Given the description of an element on the screen output the (x, y) to click on. 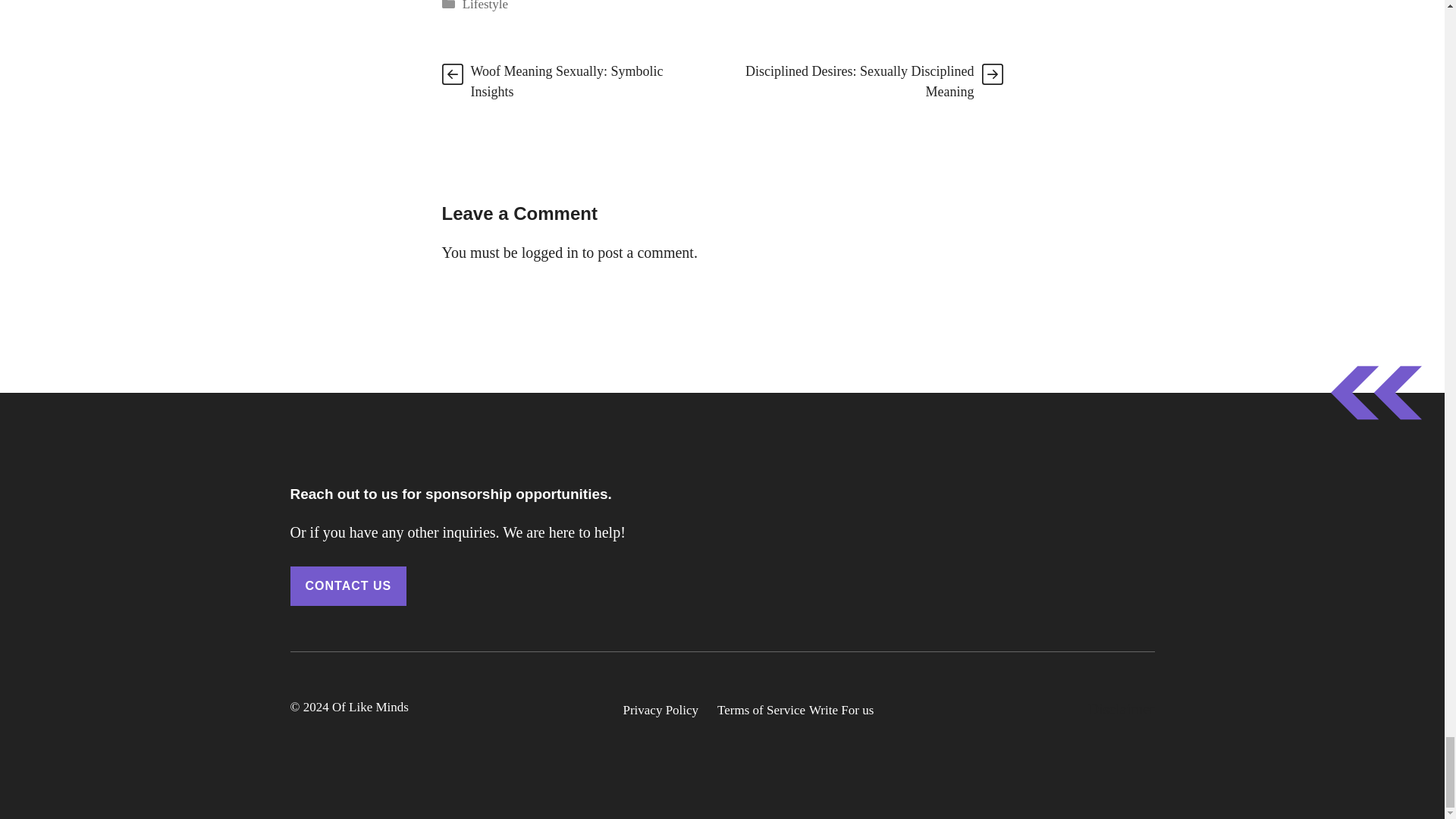
Lifestyle (485, 5)
Disciplined Desires: Sexually Disciplined Meaning (859, 81)
Woof Meaning Sexually: Symbolic Insights (566, 81)
